Given the description of an element on the screen output the (x, y) to click on. 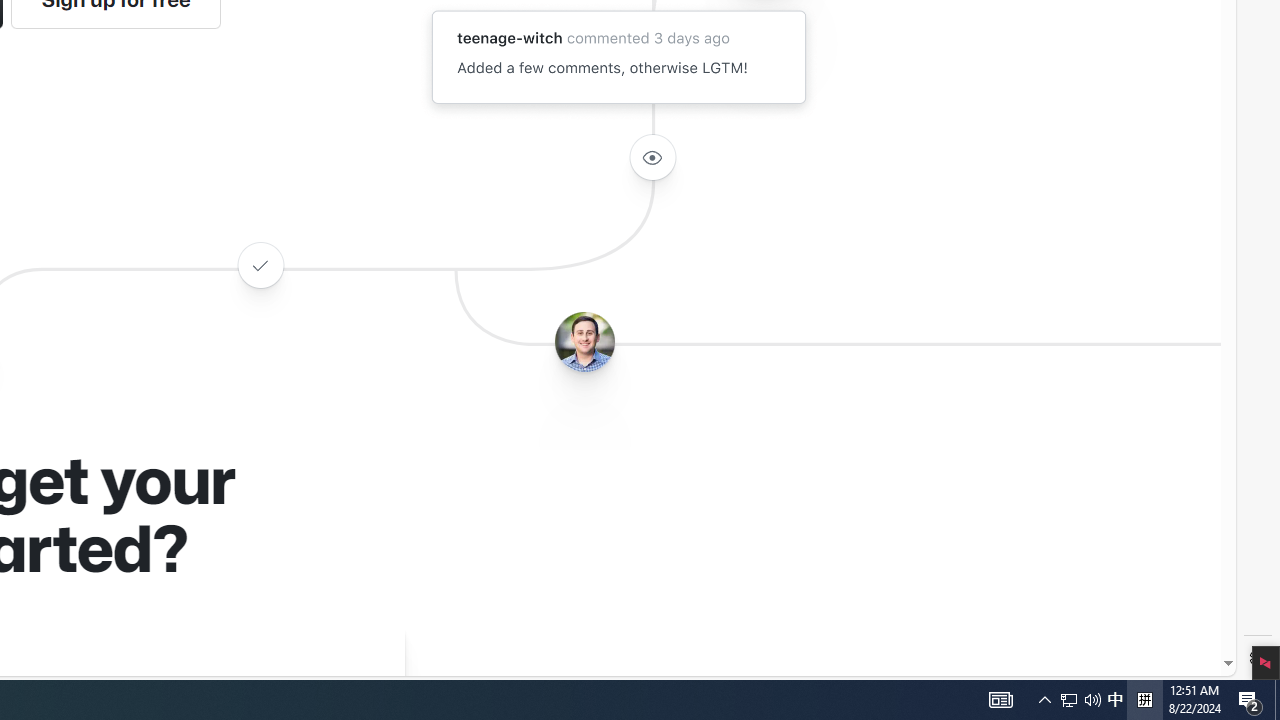
Class: color-fg-muted width-full (260, 264)
Avatar of the user benbalter (584, 341)
